Given the description of an element on the screen output the (x, y) to click on. 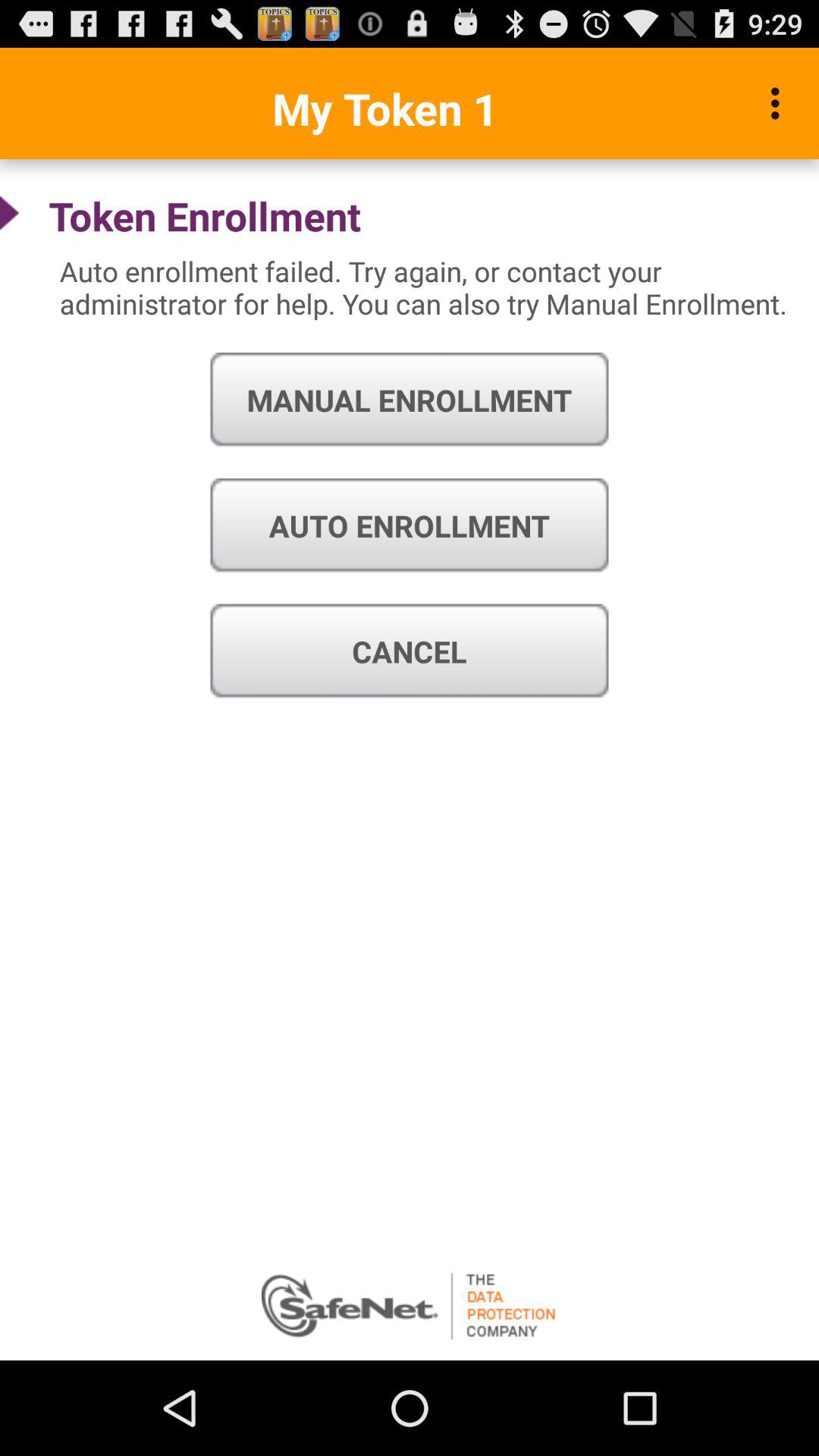
turn on the icon next to the my token 1 (779, 103)
